Given the description of an element on the screen output the (x, y) to click on. 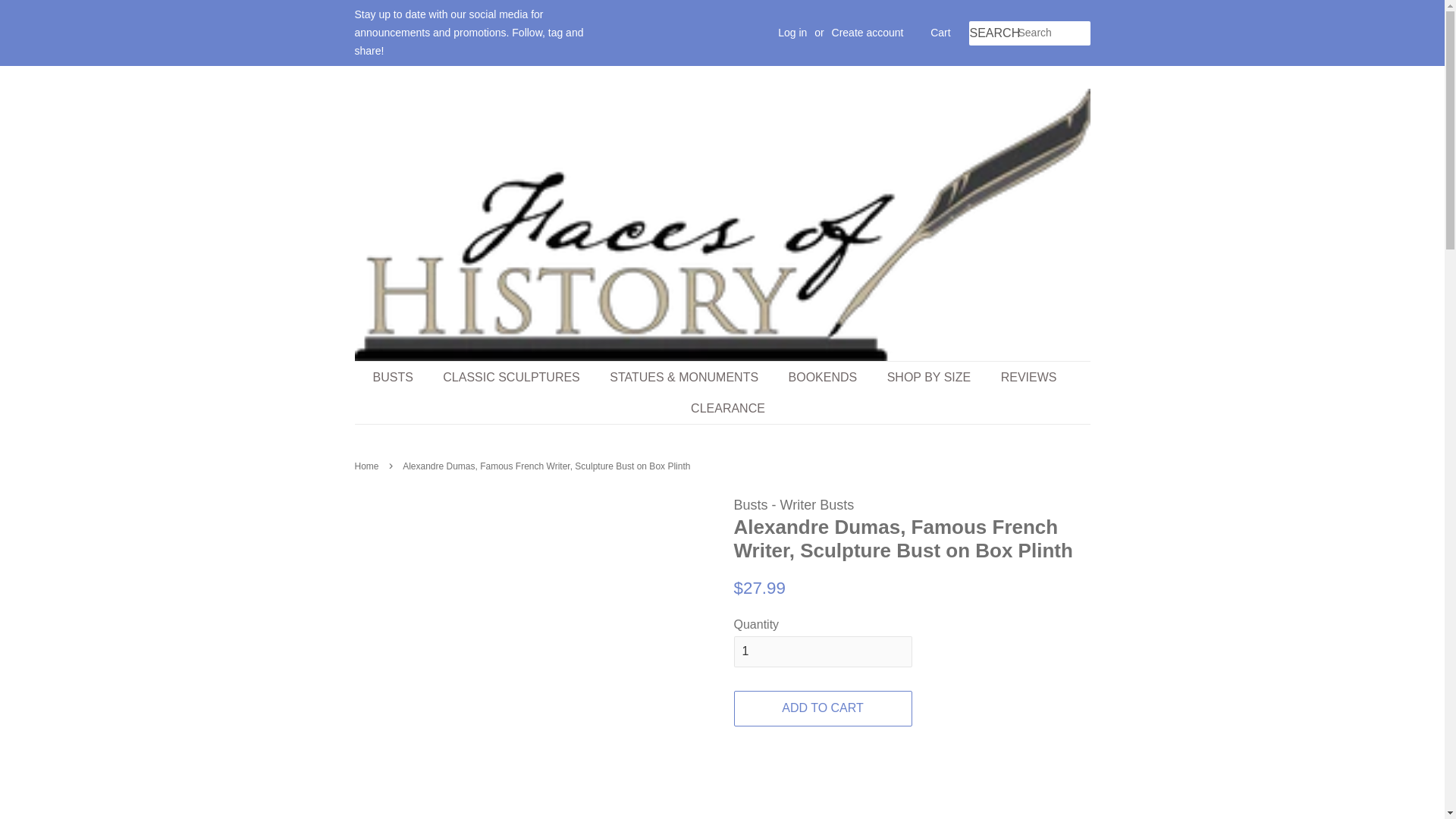
SEARCH (993, 33)
Cart (940, 33)
Back to the frontpage (368, 466)
Log in (791, 32)
BUSTS (400, 377)
1 (822, 651)
Create account (867, 32)
